Given the description of an element on the screen output the (x, y) to click on. 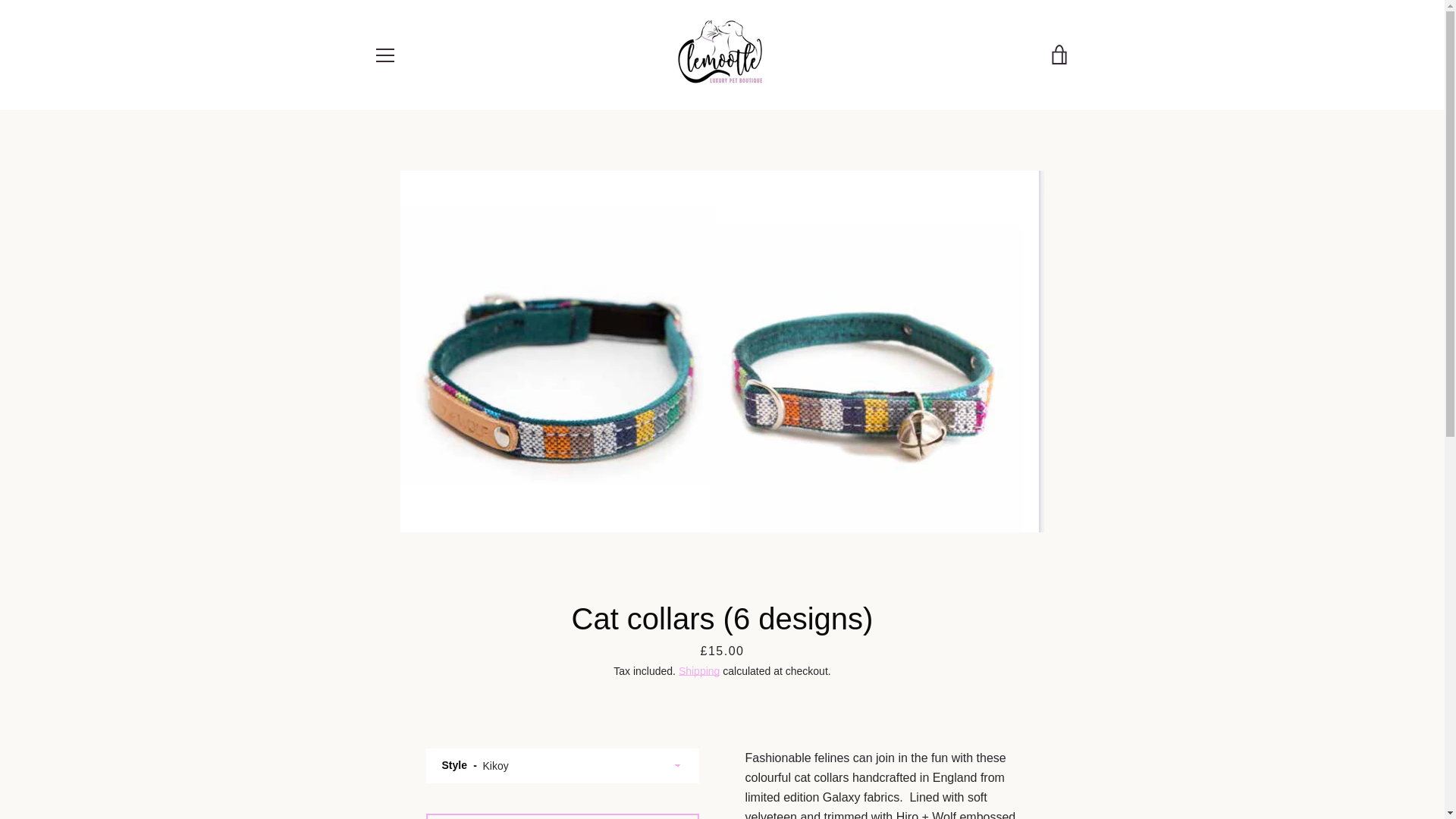
MENU (384, 55)
Google Pay (1022, 755)
Diners Club (953, 755)
Discover (988, 755)
Visa (1057, 778)
American Express (883, 755)
Mastercard (953, 778)
Shop Pay (988, 778)
Maestro (1057, 755)
Apple Pay (918, 755)
Union Pay (1022, 778)
